Given the description of an element on the screen output the (x, y) to click on. 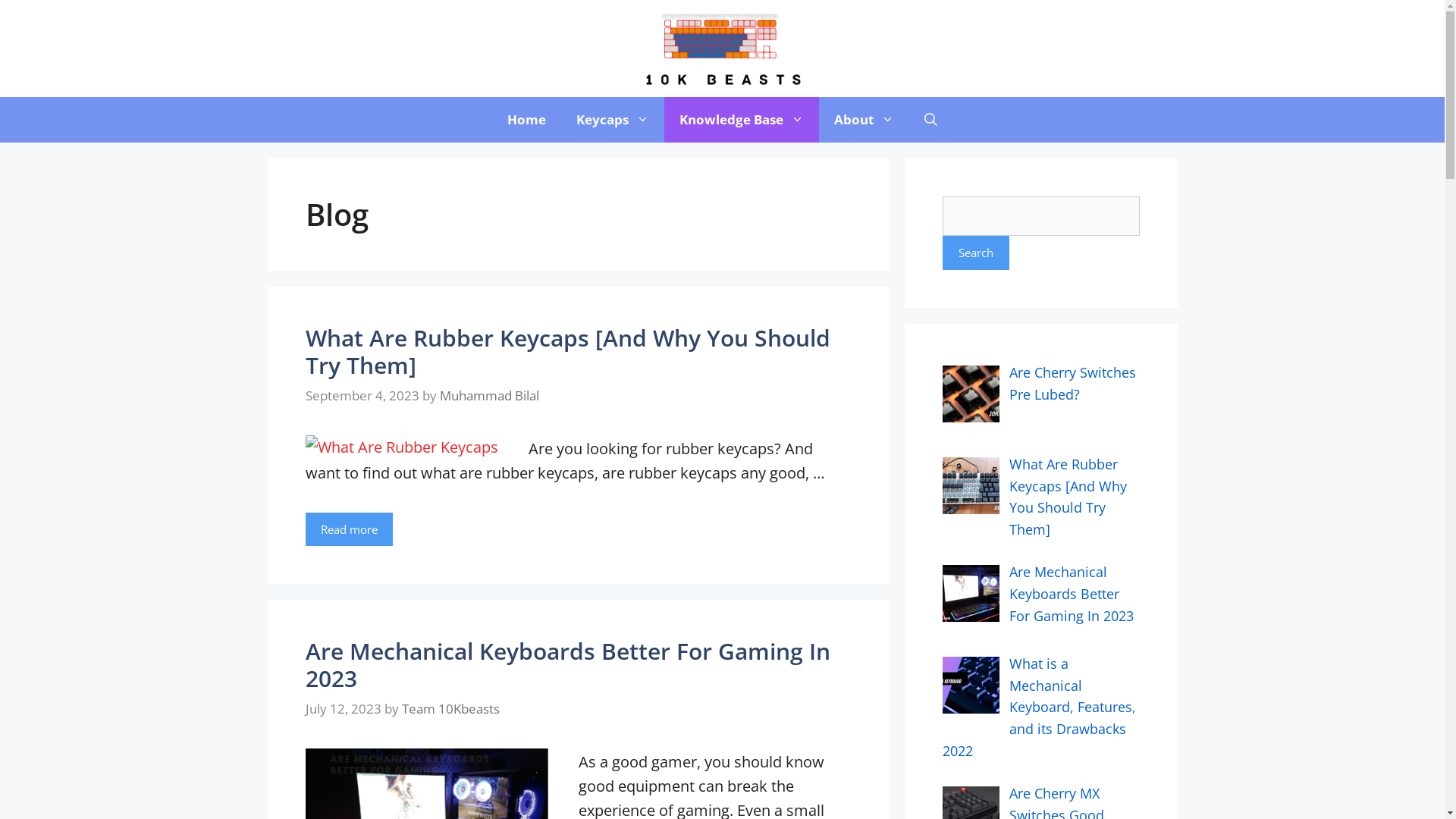
Home Element type: text (526, 119)
What Are Rubber Keycaps [And Why You Should Try Them] Element type: text (566, 351)
Are Cherry Switches Pre Lubed? Element type: text (1072, 383)
Muhammad Bilal Element type: text (489, 395)
Are Mechanical Keyboards Better For Gaming In 2023 Element type: text (566, 664)
Knowledge Base Element type: text (741, 119)
About Element type: text (864, 119)
What Are Rubber Keycaps [And Why You Should Try Them] Element type: text (1067, 496)
Search Element type: text (974, 252)
Are Mechanical Keyboards Better For Gaming In 2023 Element type: text (1071, 593)
Team 10Kbeasts Element type: text (450, 708)
Read more Element type: text (348, 529)
Keycaps Element type: text (612, 119)
